Given the description of an element on the screen output the (x, y) to click on. 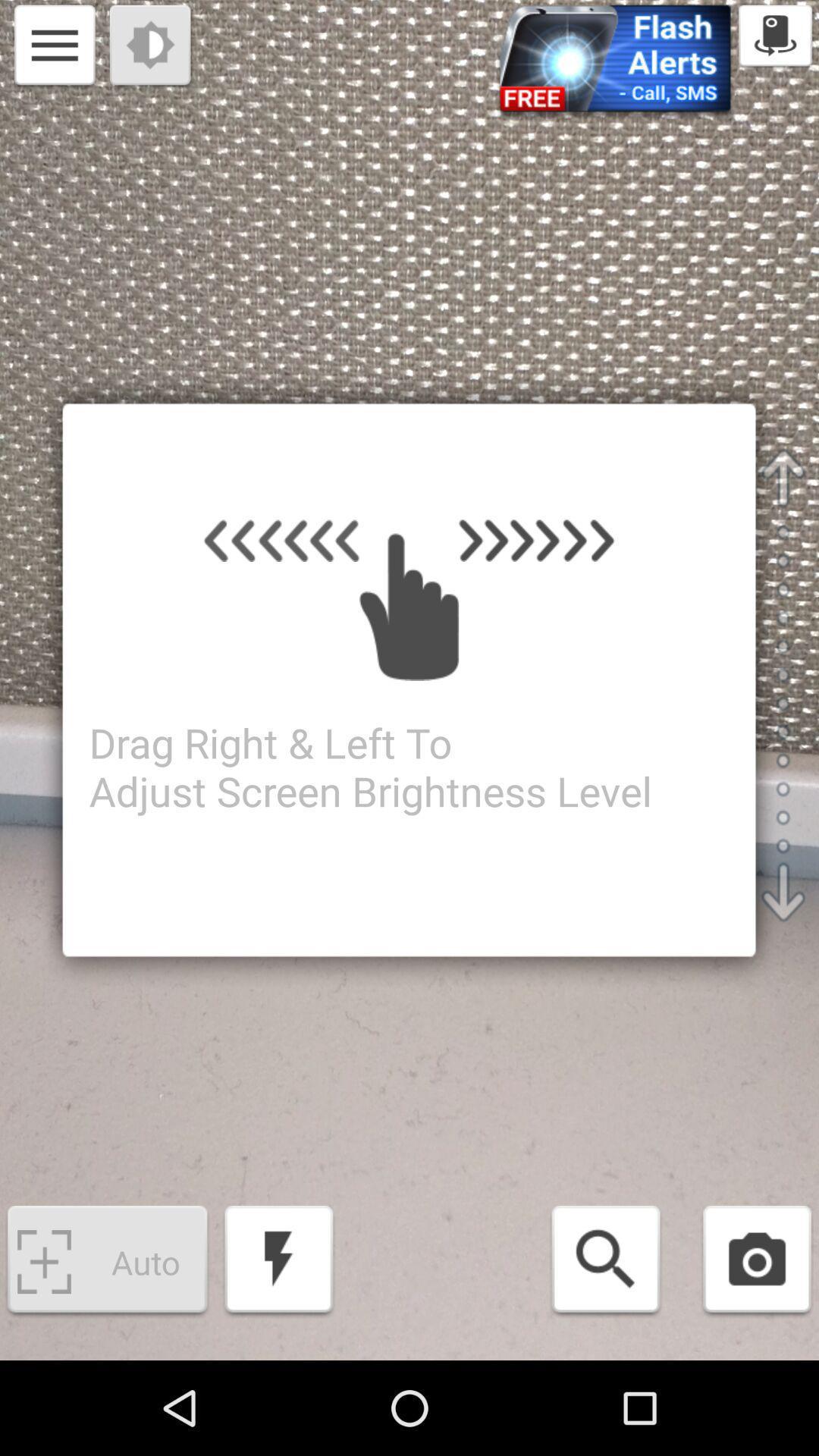
flash on/off (278, 1261)
